Given the description of an element on the screen output the (x, y) to click on. 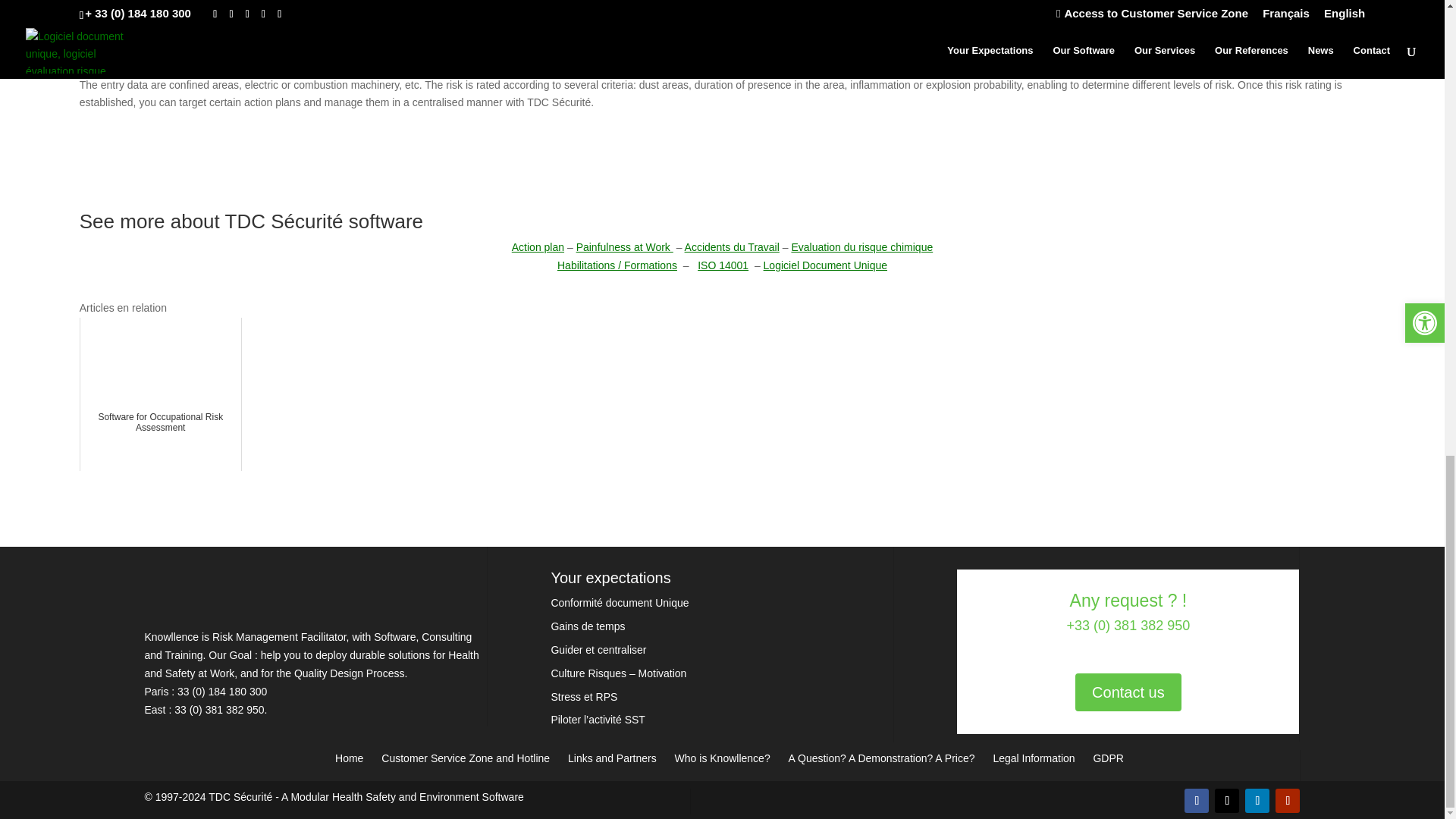
Follow on Youtube (1287, 800)
Follow on LinkedIn (1256, 800)
Accidents du Travail (731, 246)
Follow on Facebook (1196, 800)
Evaluation du risque chimique (861, 246)
ISO 14001 (722, 265)
Le logiciel Document Unique (824, 265)
Accidents du Travail (731, 246)
Single document software, chemical risk assessment software (240, 797)
Gains de temps (587, 625)
Follow on X (1226, 800)
Painfulness at Work  (624, 246)
Knowllence (258, 619)
Software for Occupational Risk Assessment (160, 393)
Action plan (538, 246)
